Given the description of an element on the screen output the (x, y) to click on. 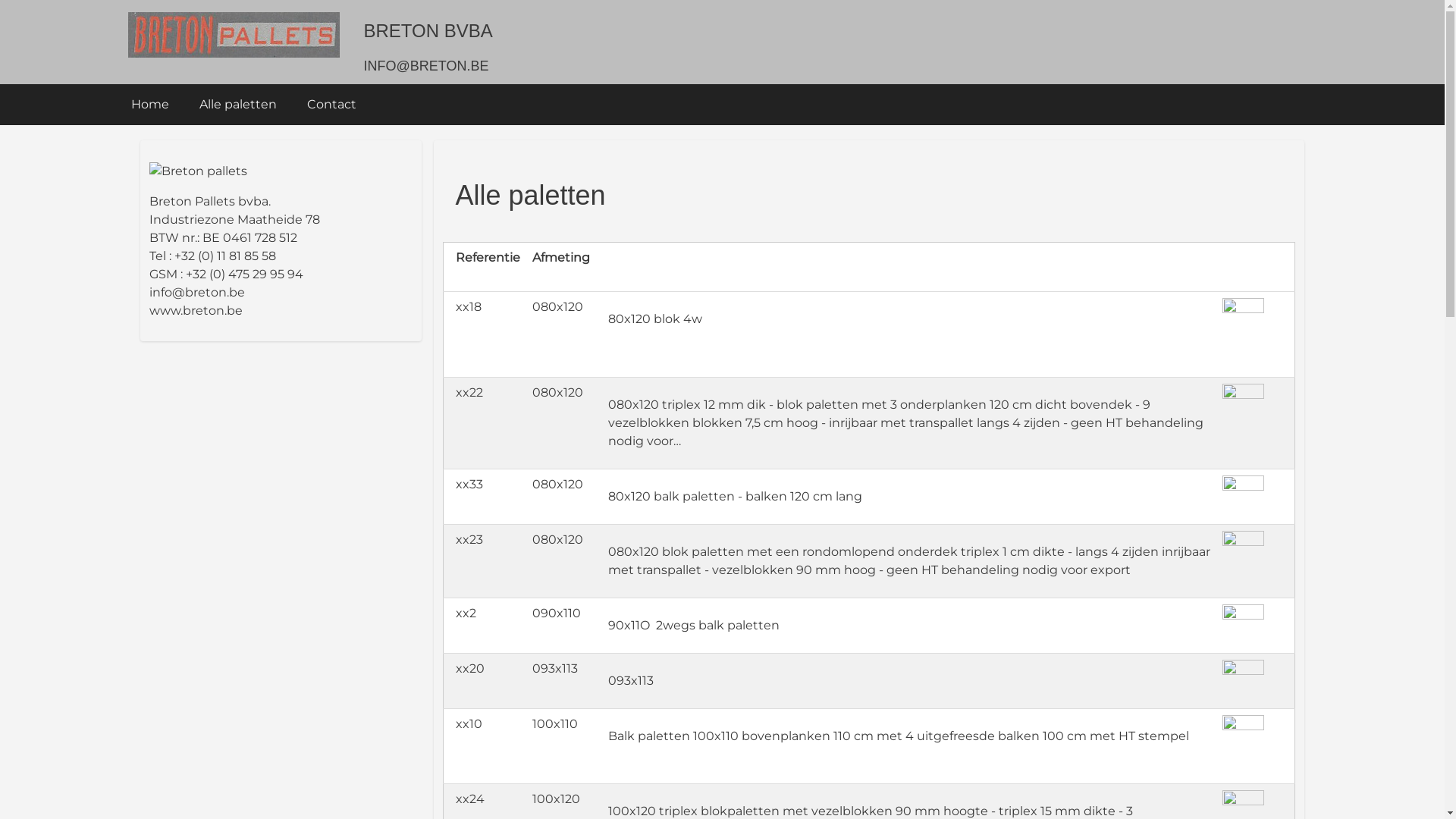
080x120 Element type: text (557, 539)
080x120 Element type: text (557, 306)
093x113 Element type: text (554, 668)
Home Element type: text (149, 104)
090x110 Element type: text (556, 612)
INFO@BRETON.BE Element type: text (426, 65)
info@breton.be Element type: text (196, 292)
+32 (0) 475 29 95 94 Element type: text (243, 273)
Overslaan en naar de inhoud gaan Element type: text (0, 0)
xx20 Element type: text (469, 668)
xx18 Element type: text (468, 306)
Alle paletten Element type: text (237, 104)
Contact Element type: text (330, 104)
xx33 Element type: text (469, 483)
Afmeting
Aflopend sorteren Element type: text (560, 266)
xx23 Element type: text (469, 539)
xx22 Element type: text (469, 392)
100x110 Element type: text (554, 723)
080x120 Element type: text (557, 392)
100x120 Element type: text (556, 798)
xx10 Element type: text (468, 723)
080x120 Element type: text (557, 483)
BRETON BVBA Element type: text (428, 30)
xx24 Element type: text (469, 798)
xx2 Element type: text (465, 612)
Home Element type: hover (232, 34)
+32 (0) 11 81 85 58 Element type: text (225, 255)
